Given the description of an element on the screen output the (x, y) to click on. 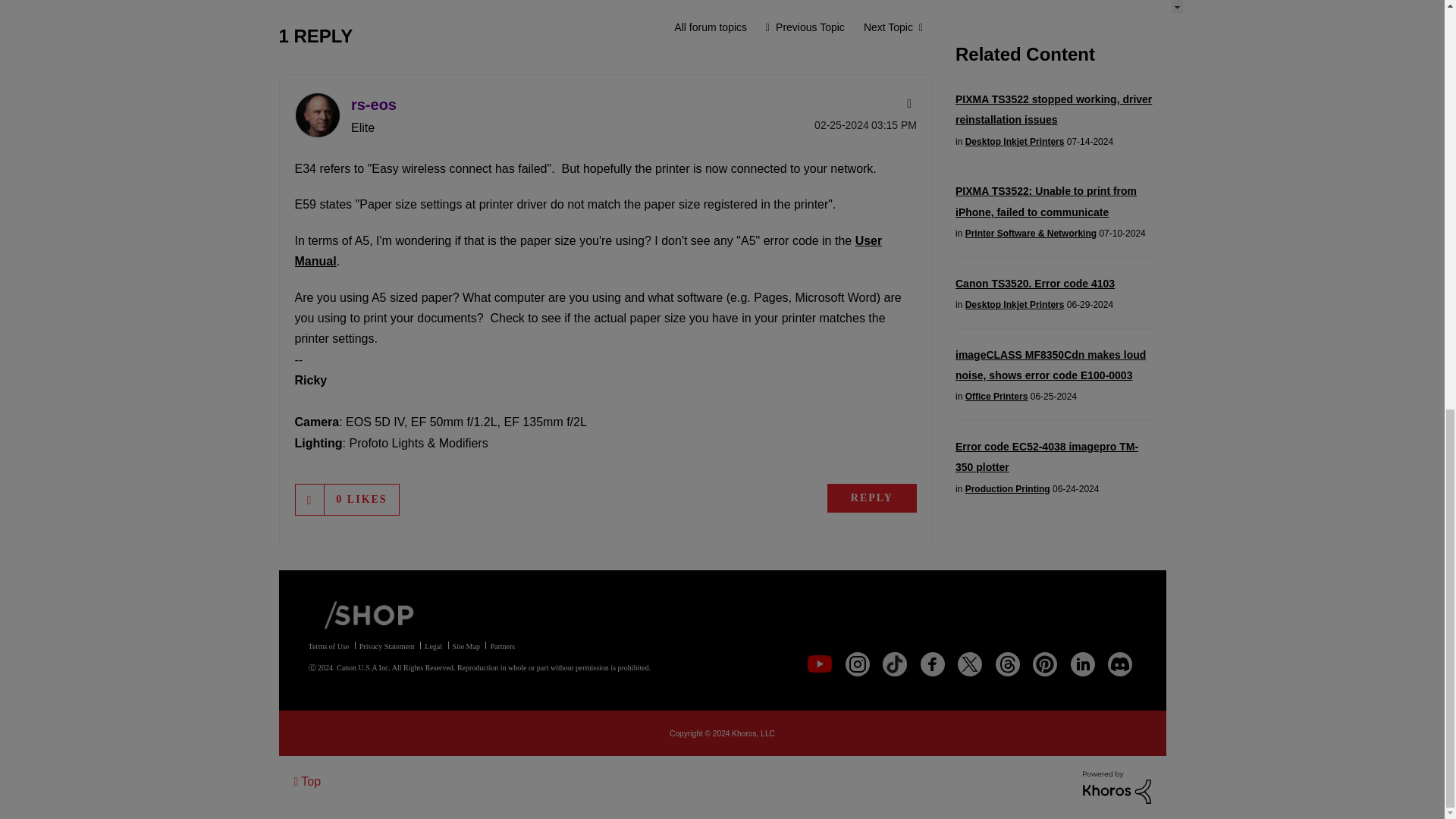
Top (307, 780)
Top (307, 780)
Desktop Inkjet Printers (710, 27)
